Given the description of an element on the screen output the (x, y) to click on. 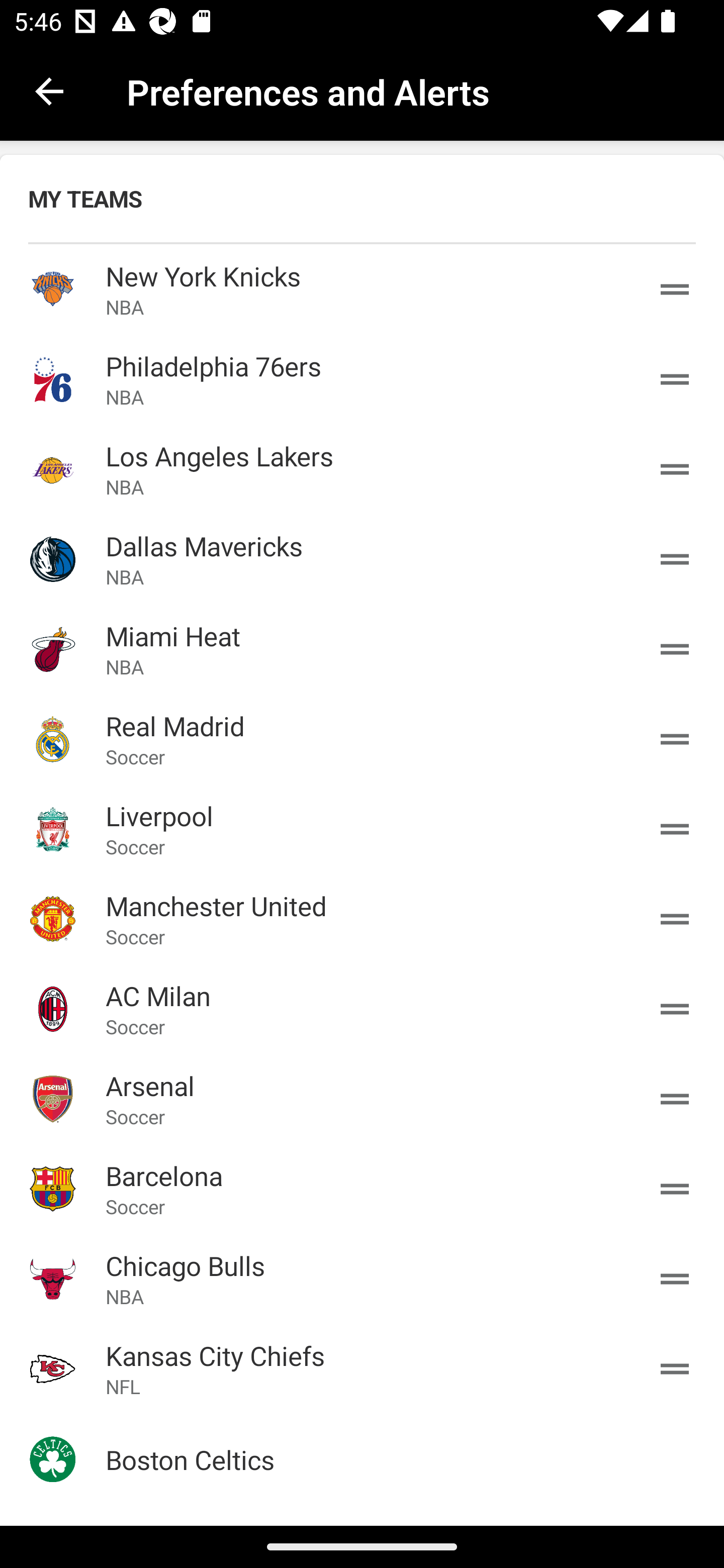
back.button (49, 90)
Miami Heat Miami Heat Miami Heat NBA NBA (362, 648)
Real Madrid Real Madrid Real Madrid Soccer Soccer (362, 739)
Liverpool Liverpool Liverpool Soccer Soccer (362, 828)
AC Milan AC Milan AC Milan Soccer Soccer (362, 1008)
Arsenal Arsenal Arsenal Soccer Soccer (362, 1098)
Barcelona Barcelona Barcelona Soccer Soccer (362, 1188)
Chicago Bulls Chicago Bulls Chicago Bulls NBA NBA (362, 1278)
Boston Celtics Boston Celtics Boston Celtics (362, 1459)
